Given the description of an element on the screen output the (x, y) to click on. 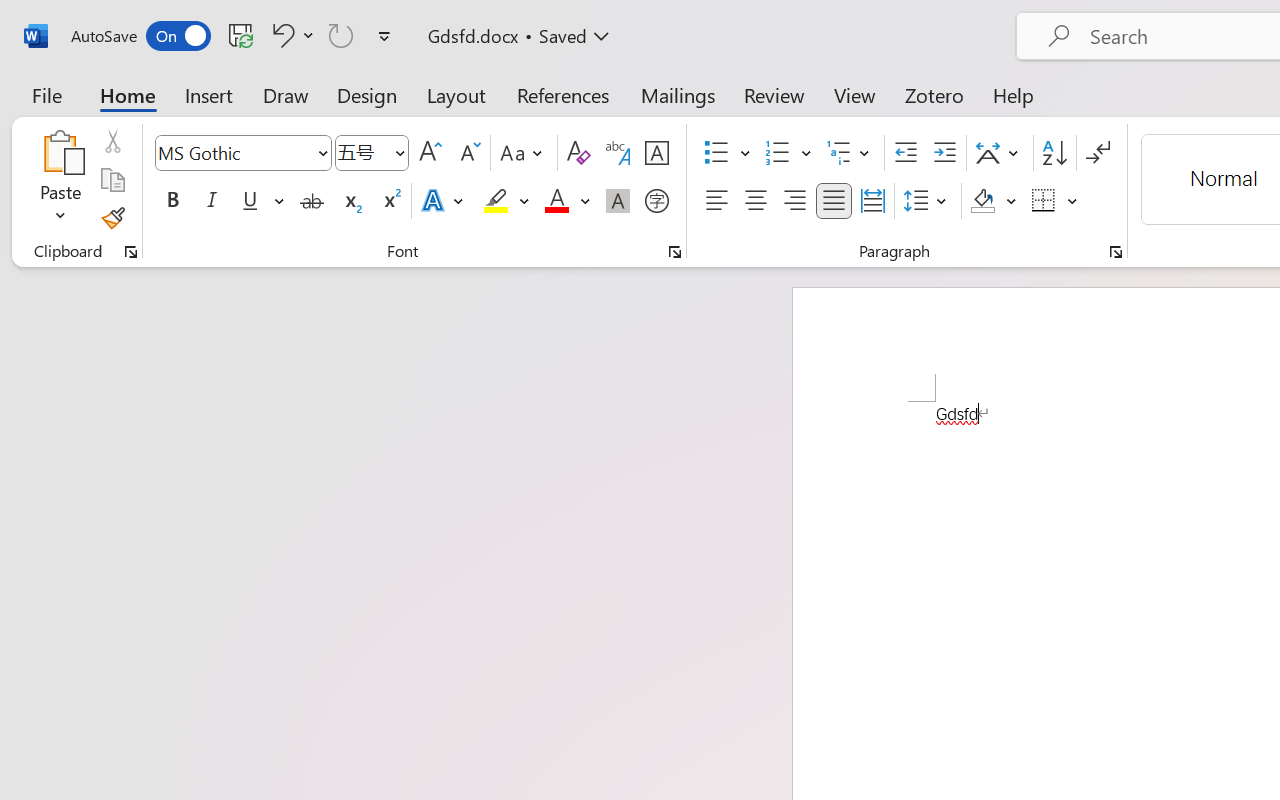
Can't Repeat (341, 35)
Undo Font Formatting (280, 35)
